Given the description of an element on the screen output the (x, y) to click on. 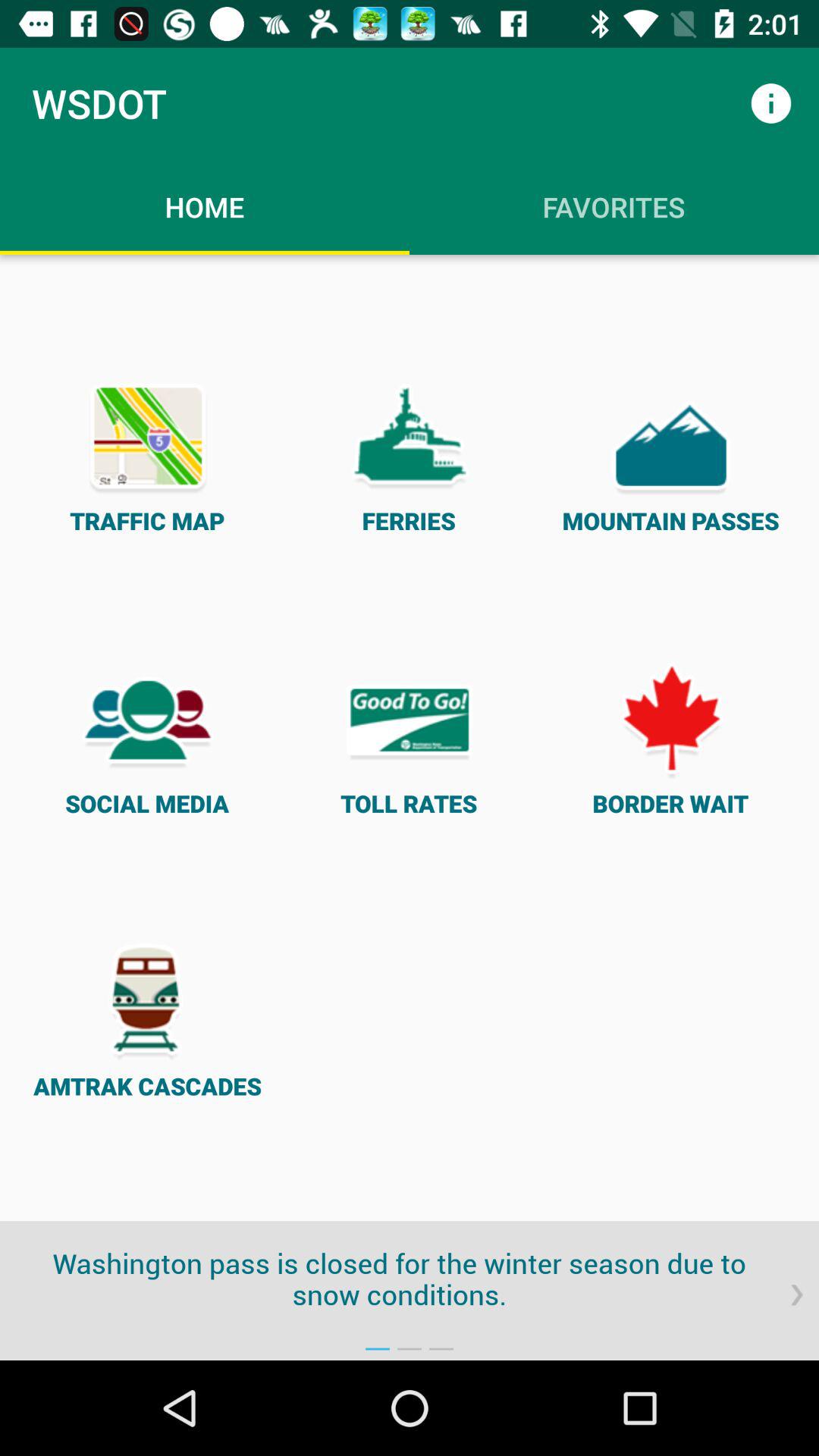
swipe until ferries item (409, 455)
